Given the description of an element on the screen output the (x, y) to click on. 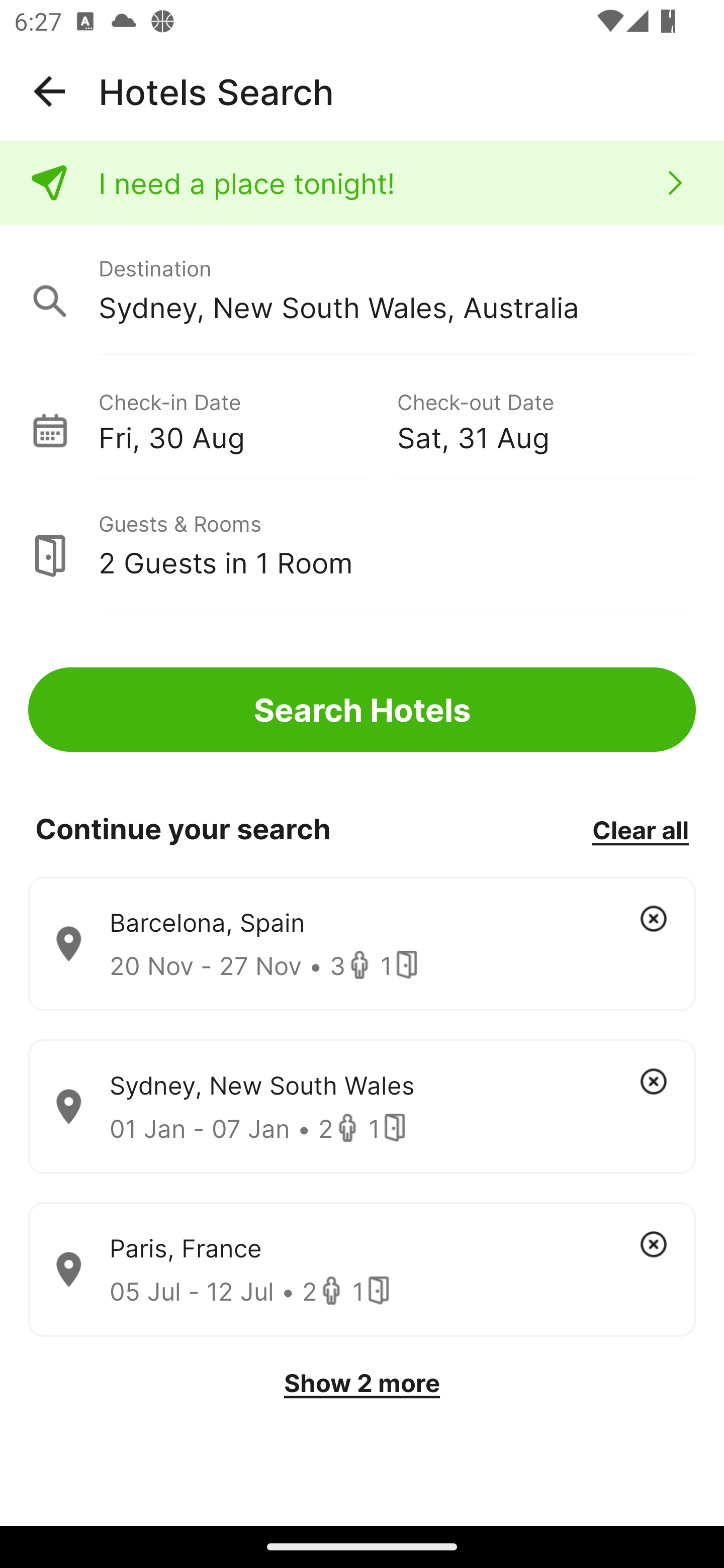
I need a place tonight! (362, 183)
Destination Sydney, New South Wales, Australia (362, 290)
Check-in Date Fri, 30 Aug (247, 418)
Check-out Date Sat, 31 Aug (546, 418)
Guests & Rooms 2 Guests in 1 Room (362, 545)
Search Hotels (361, 709)
Clear all (640, 829)
Barcelona, Spain 20 Nov - 27 Nov • 3  1  (361, 943)
Sydney, New South Wales 01 Jan - 07 Jan • 2  1  (361, 1106)
Paris, France 05 Jul - 12 Jul • 2  1  (361, 1269)
Show 2 more (362, 1382)
